Given the description of an element on the screen output the (x, y) to click on. 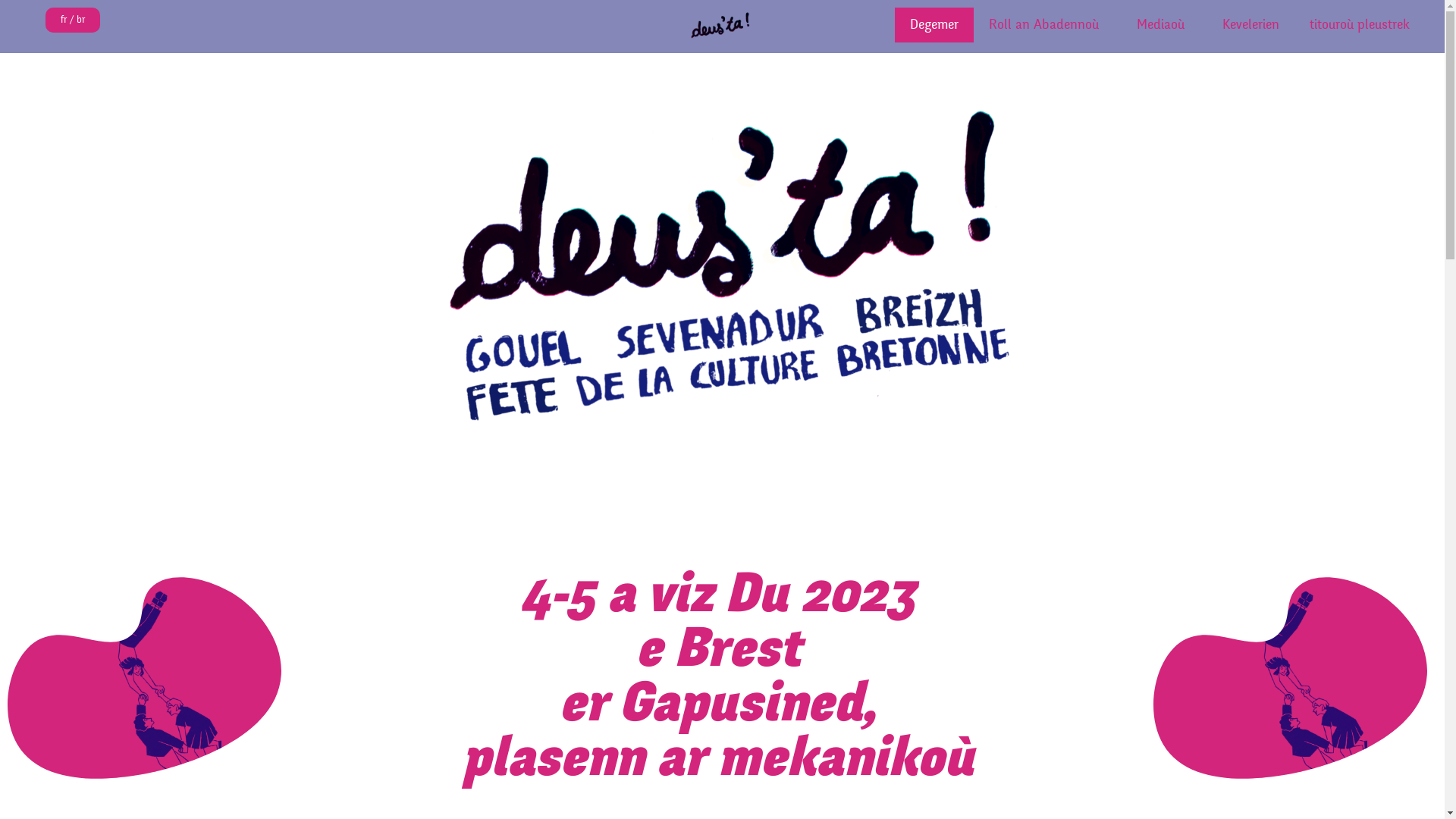
Kevelerien Element type: text (1250, 24)
fr / br Element type: text (72, 19)
Degemer Element type: text (933, 24)
